Given the description of an element on the screen output the (x, y) to click on. 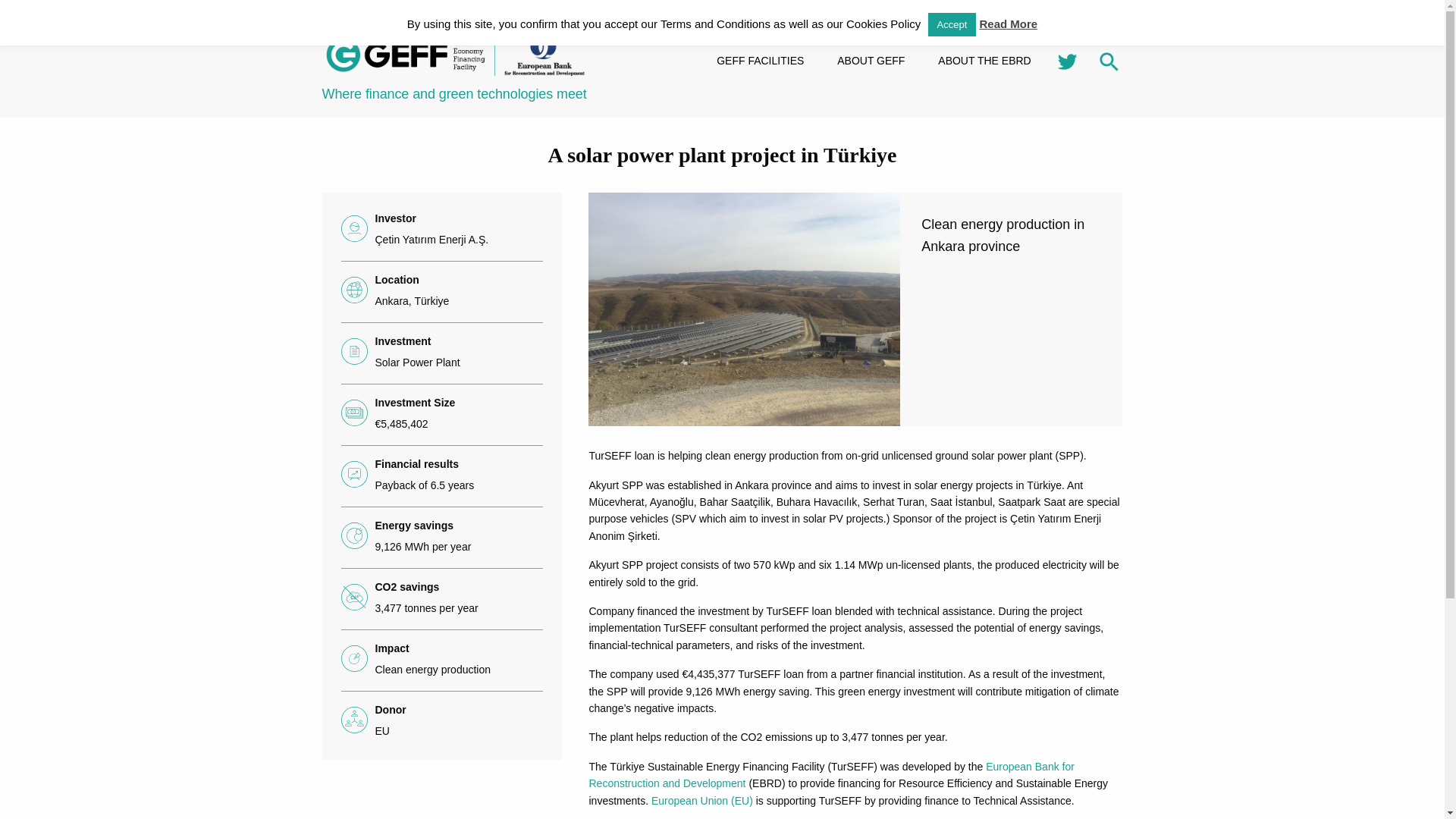
ABOUT THE EBRD (983, 60)
GEFF FACILITIES (759, 60)
ABOUT GEFF (870, 60)
Where finance and green technologies meet (454, 78)
